Given the description of an element on the screen output the (x, y) to click on. 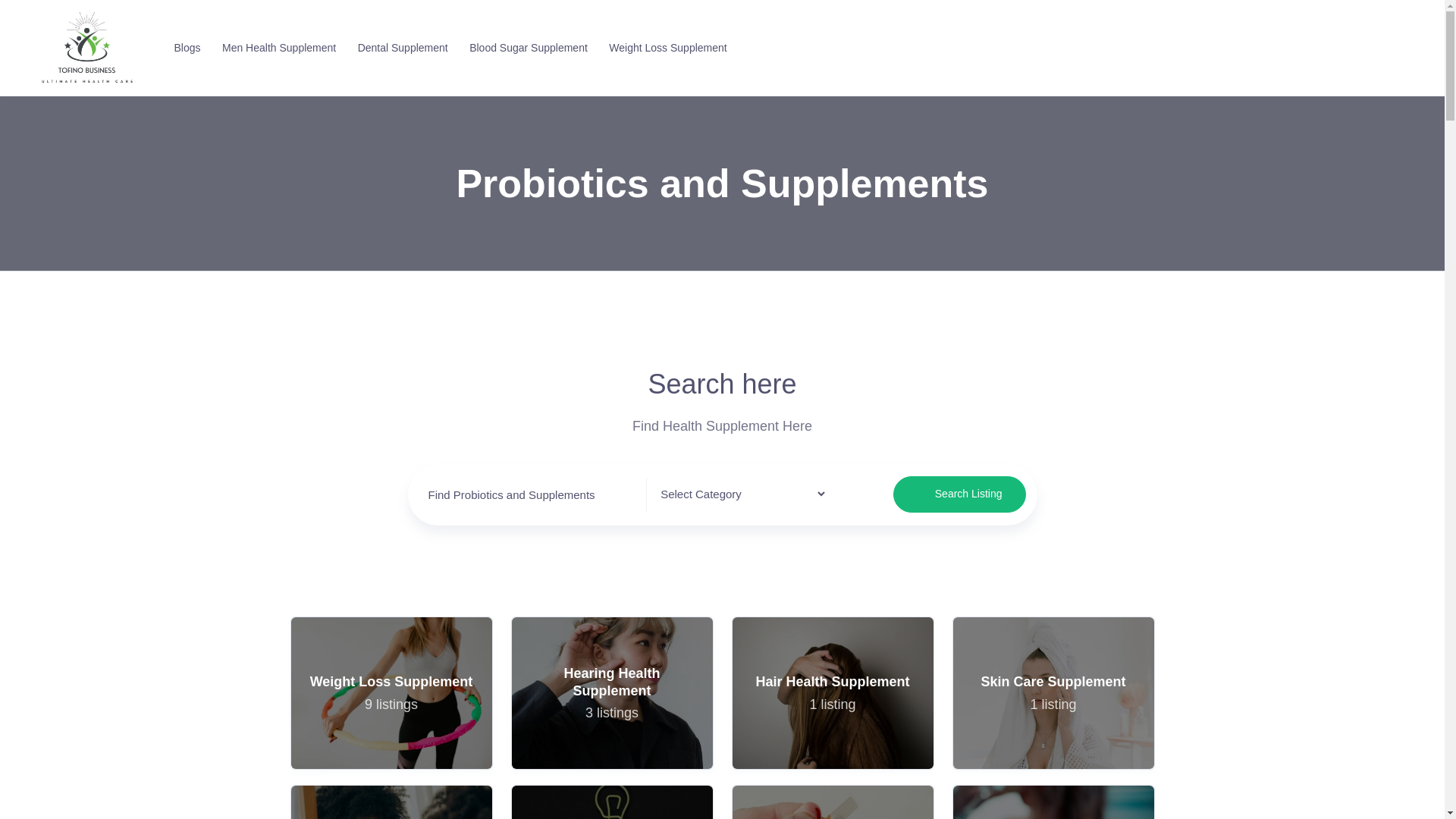
Weight Loss Supplement (664, 48)
Blood Sugar Supplement (1053, 801)
Search Listing (832, 802)
Dental Supplement (959, 493)
Skin Care Supplement (1053, 692)
Dental Care Supplement (400, 48)
Hearing Health Supplement (1052, 693)
Weight Loss Supplement (390, 802)
